Given the description of an element on the screen output the (x, y) to click on. 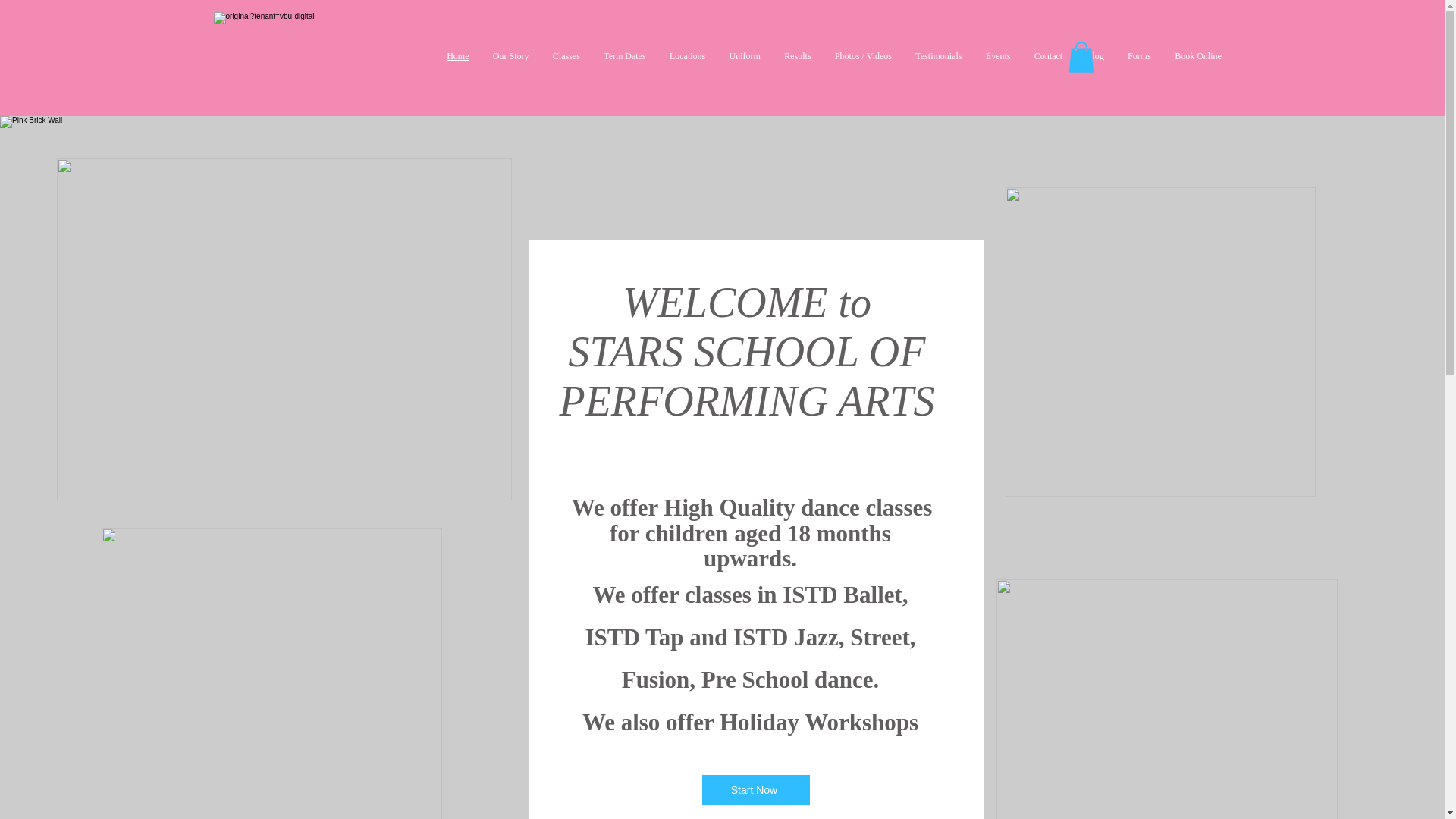
Home (458, 56)
Results (798, 56)
Start Now (755, 789)
Uniform (745, 56)
Contact (1048, 56)
Forms (1139, 56)
Term Dates (624, 56)
Testimonials (939, 56)
Classes (565, 56)
Our Story (510, 56)
